Given the description of an element on the screen output the (x, y) to click on. 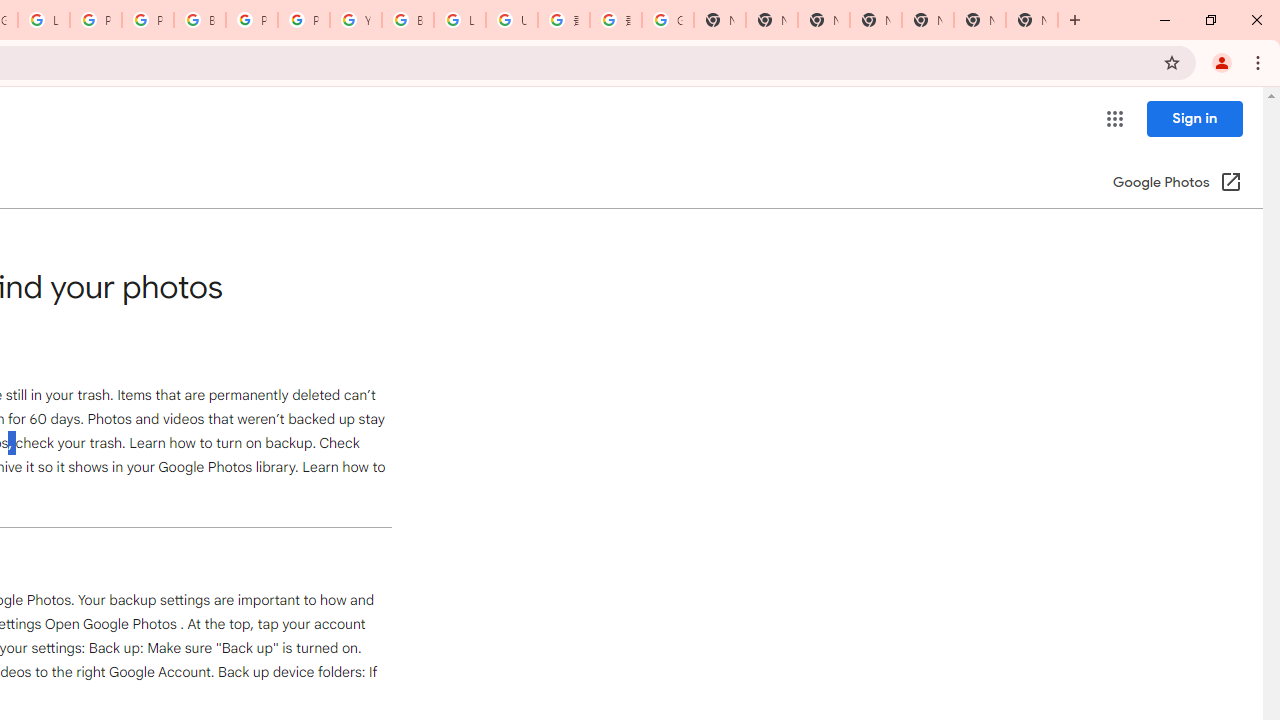
New Tab (1032, 20)
YouTube (355, 20)
New Tab (875, 20)
Privacy Help Center - Policies Help (147, 20)
